Given the description of an element on the screen output the (x, y) to click on. 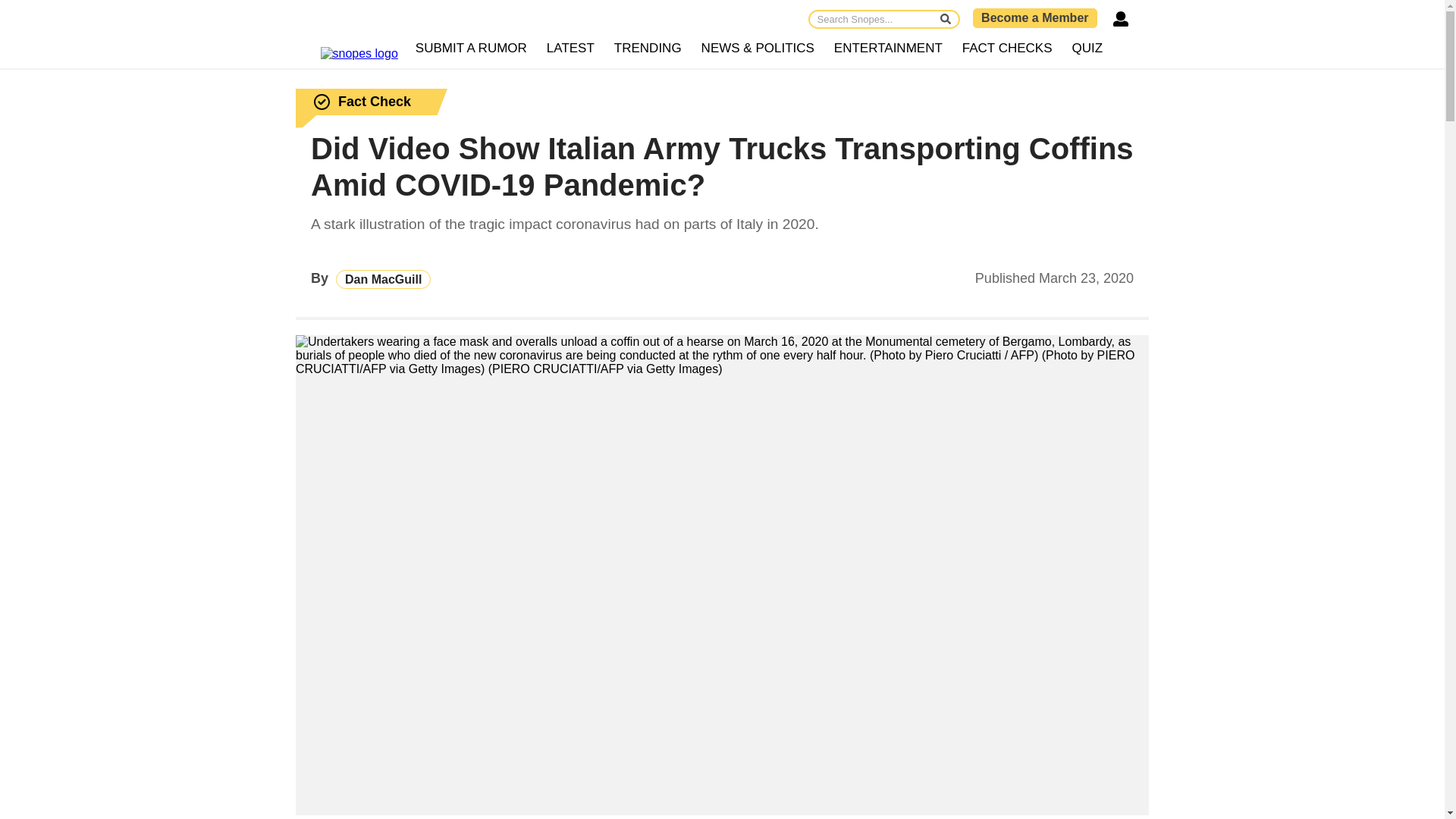
LATEST (570, 47)
Become a Member (1034, 17)
TRENDING (647, 47)
SUBMIT A RUMOR (471, 47)
Dan MacGuill (383, 279)
QUIZ (1087, 47)
ENTERTAINMENT (887, 47)
FACT CHECKS (1007, 47)
